Given the description of an element on the screen output the (x, y) to click on. 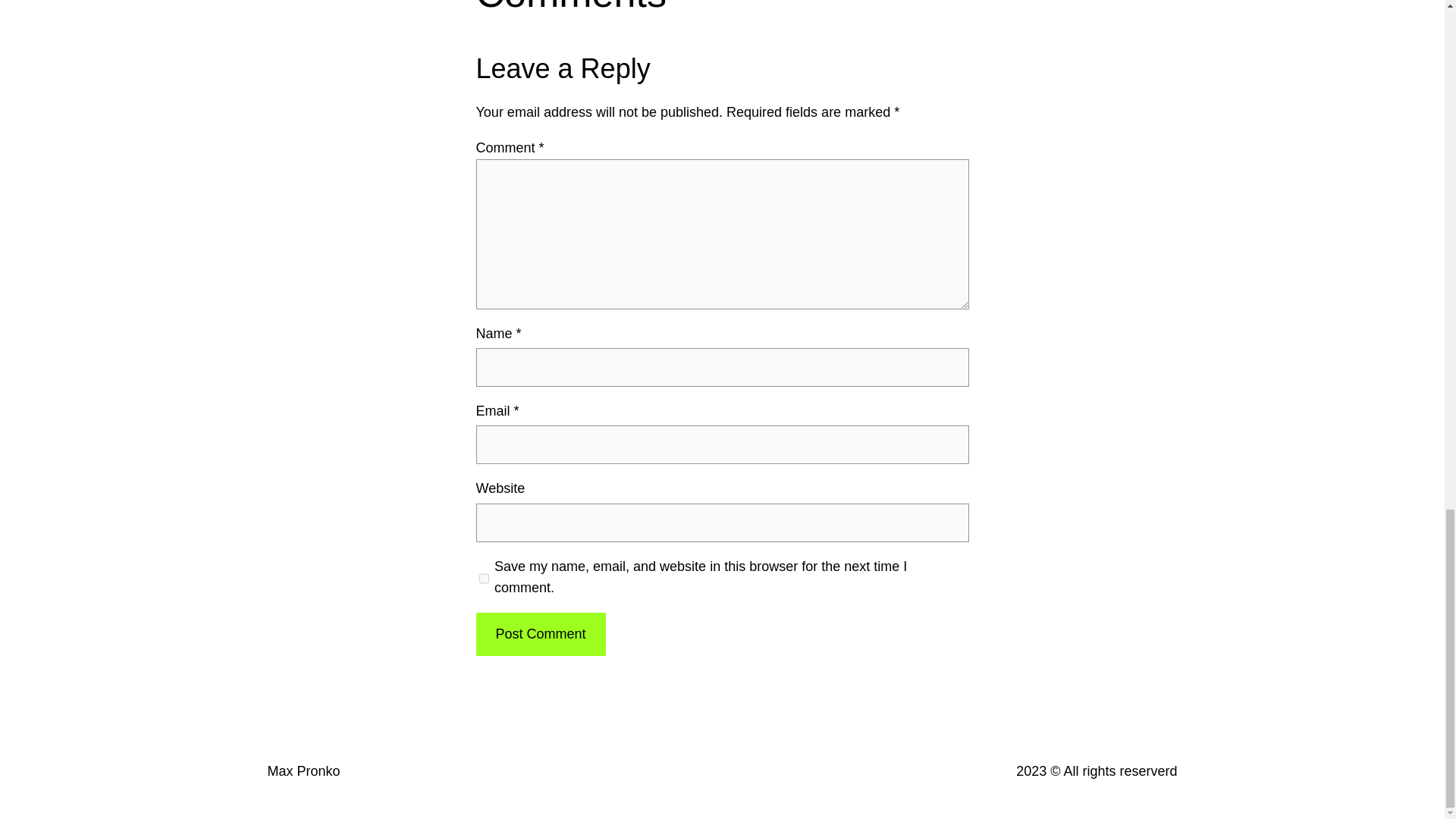
Max Pronko (302, 770)
Post Comment (540, 634)
Post Comment (540, 634)
